Given the description of an element on the screen output the (x, y) to click on. 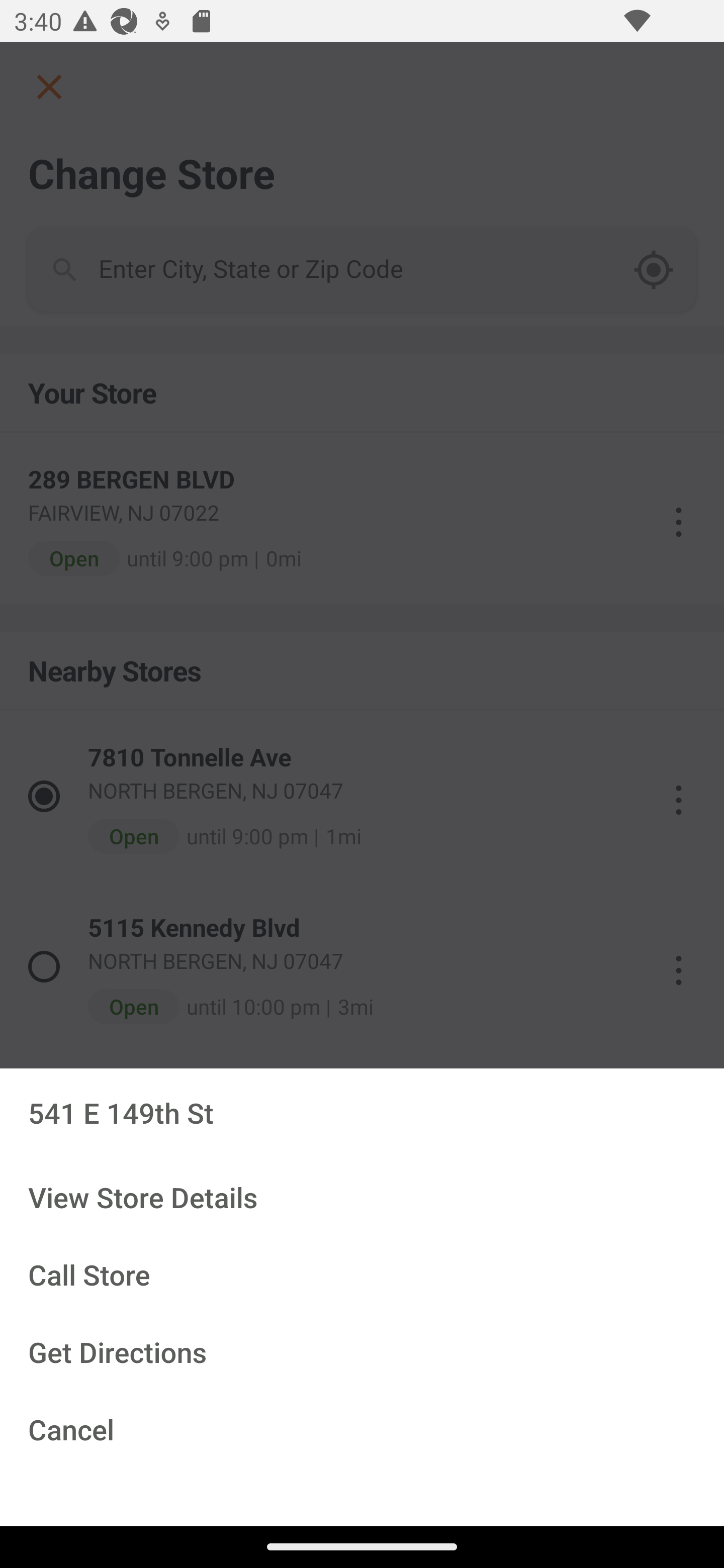
Call Store Call Store Call Store (361, 1275)
Get Directions Get Directions Get Directions (361, 1352)
Cancel Cancel Cancel (361, 1430)
